Given the description of an element on the screen output the (x, y) to click on. 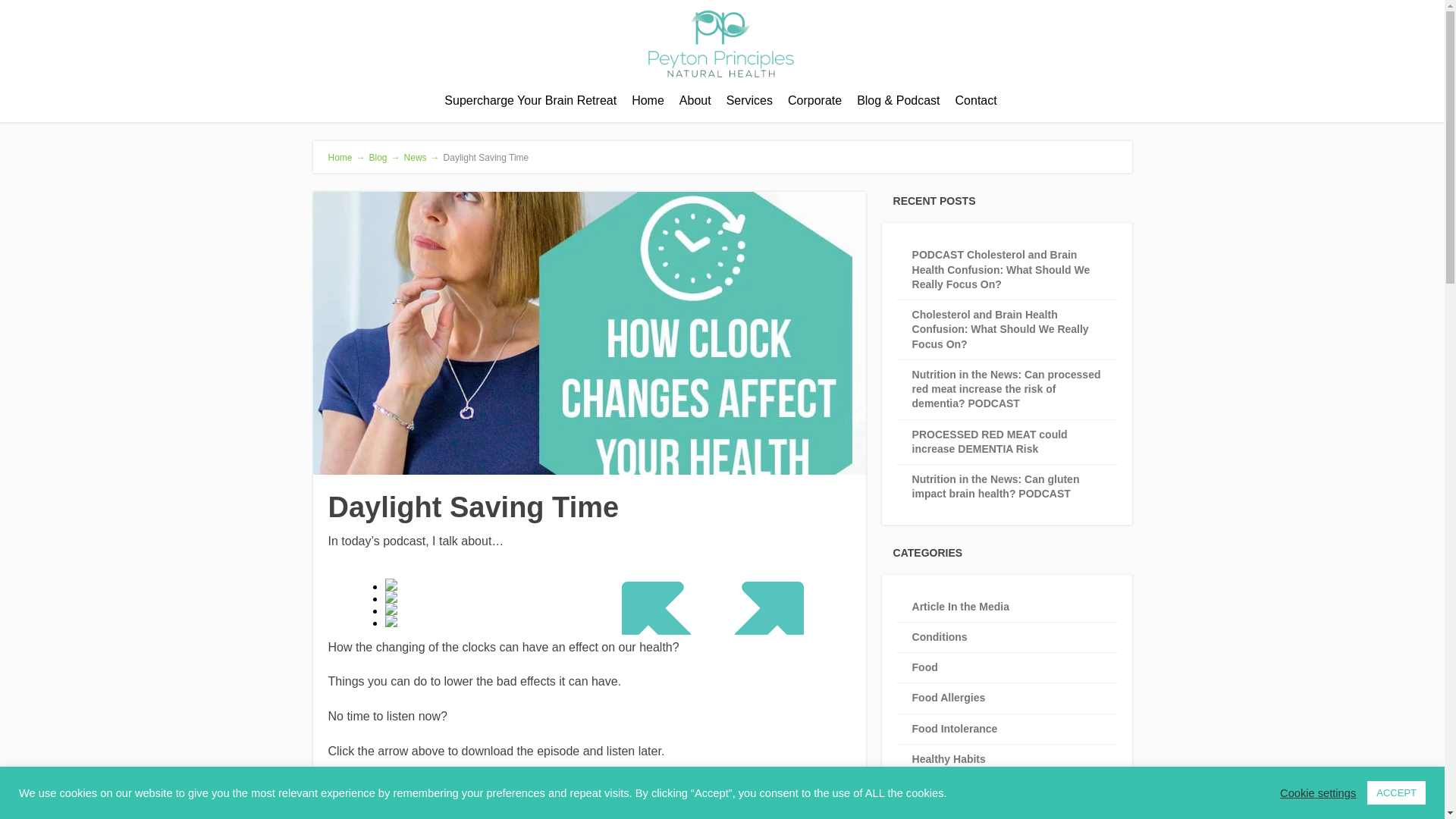
Home (647, 100)
About (695, 100)
Services (749, 100)
Supercharge Your Brain Retreat (530, 100)
Corporate (814, 100)
Contact (975, 100)
